Given the description of an element on the screen output the (x, y) to click on. 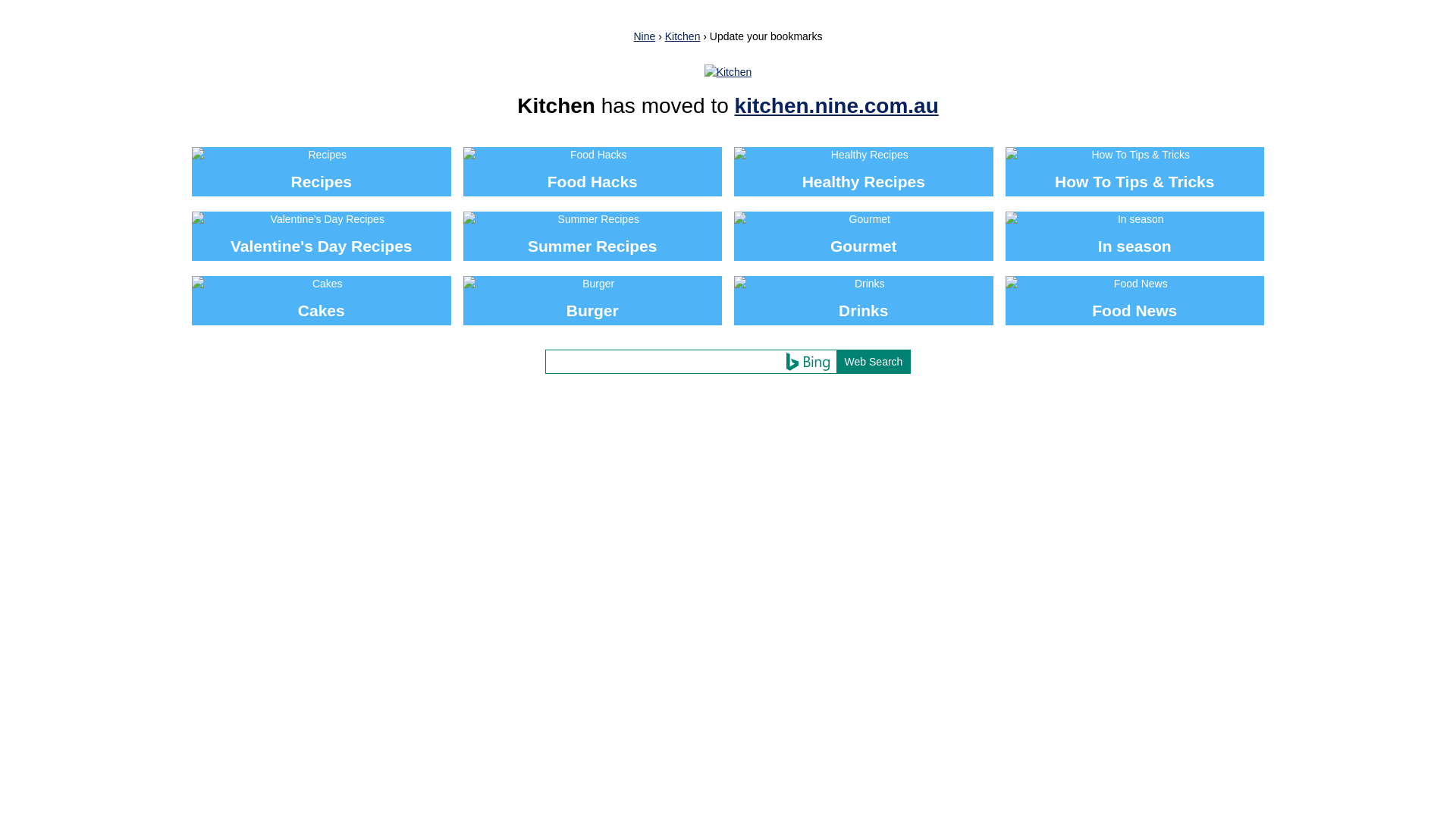
Healthy Recipes Element type: text (863, 171)
Food News Element type: text (1134, 300)
Web Search Element type: text (873, 361)
Food Hacks Element type: text (591, 171)
Nine Element type: text (644, 36)
Cakes Element type: text (321, 300)
Valentine's Day Recipes Element type: text (321, 235)
Recipes Element type: text (321, 171)
How To Tips & Tricks Element type: text (1134, 171)
Burger Element type: text (591, 300)
Kitchen Element type: text (682, 36)
In season Element type: text (1134, 235)
kitchen.nine.com.au Element type: text (836, 105)
Drinks Element type: text (863, 300)
Summer Recipes Element type: text (591, 235)
Gourmet Element type: text (863, 235)
